Given the description of an element on the screen output the (x, y) to click on. 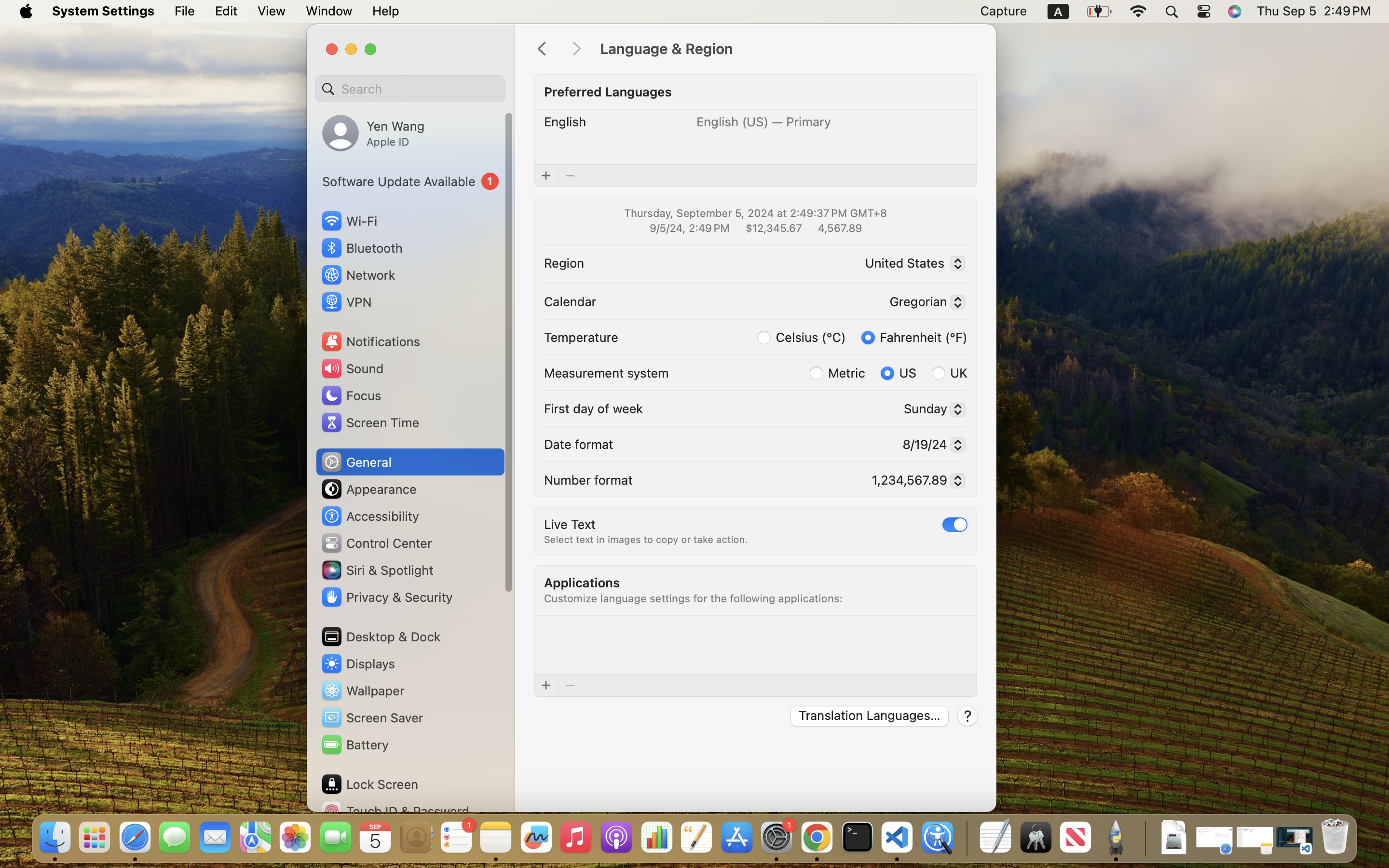
4,567.89 Element type: AXStaticText (839, 227)
Sunday Element type: AXPopUpButton (930, 410)
Calendar Element type: AXStaticText (570, 300)
